Given the description of an element on the screen output the (x, y) to click on. 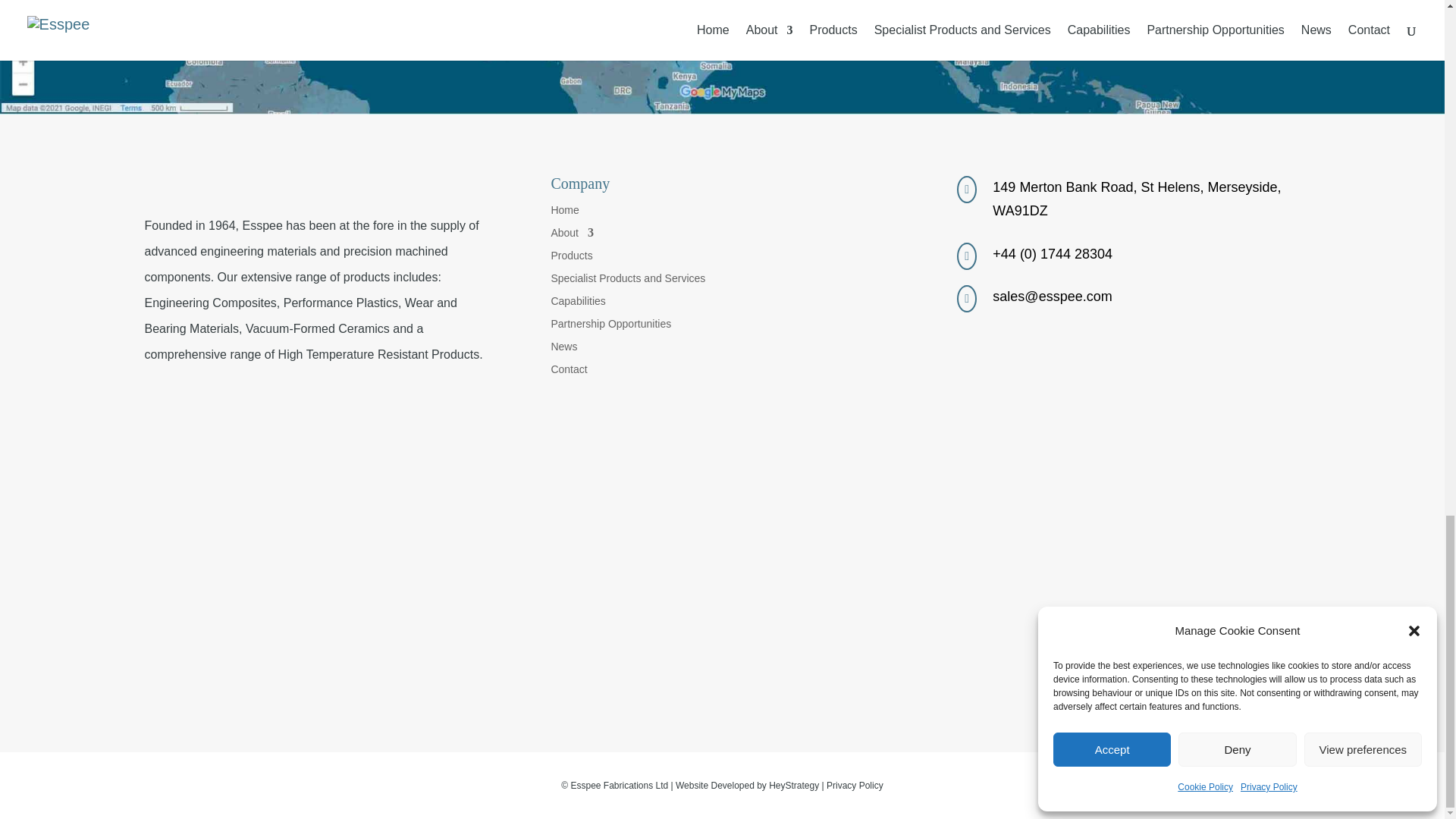
About (572, 235)
Home (564, 212)
